Given the description of an element on the screen output the (x, y) to click on. 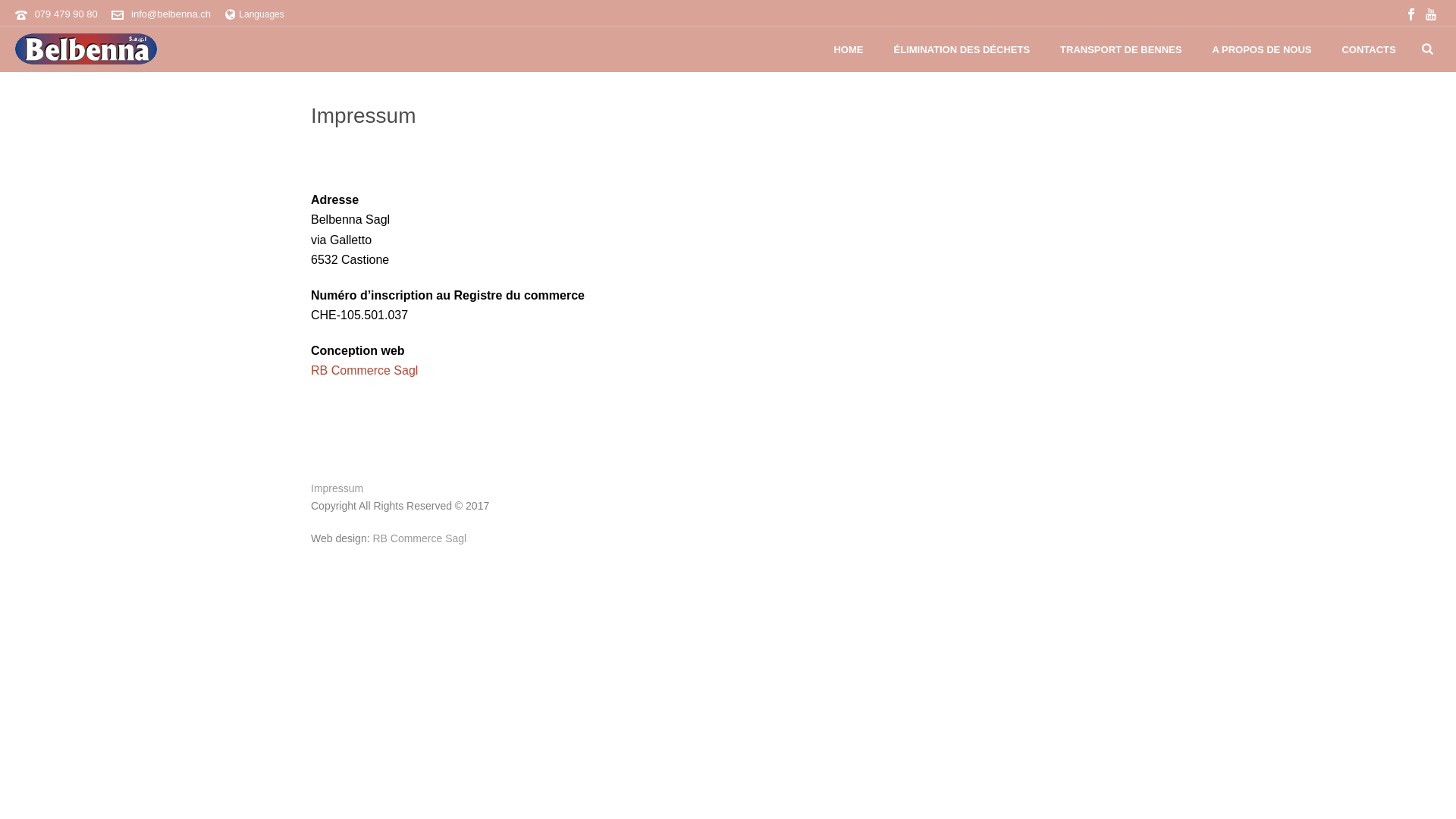
info@belbenna.ch Element type: text (170, 13)
Languages Element type: text (254, 14)
CONTACTS Element type: text (1368, 49)
A PROPOS DE NOUS Element type: text (1261, 49)
Impressum Element type: text (336, 488)
RB Commerce Sagl Element type: text (363, 370)
HOME Element type: text (848, 49)
079 479 90 80 Element type: text (65, 13)
RB Commerce Sagl Element type: text (419, 538)
TRANSPORT DE BENNES Element type: text (1120, 49)
